Given the description of an element on the screen output the (x, y) to click on. 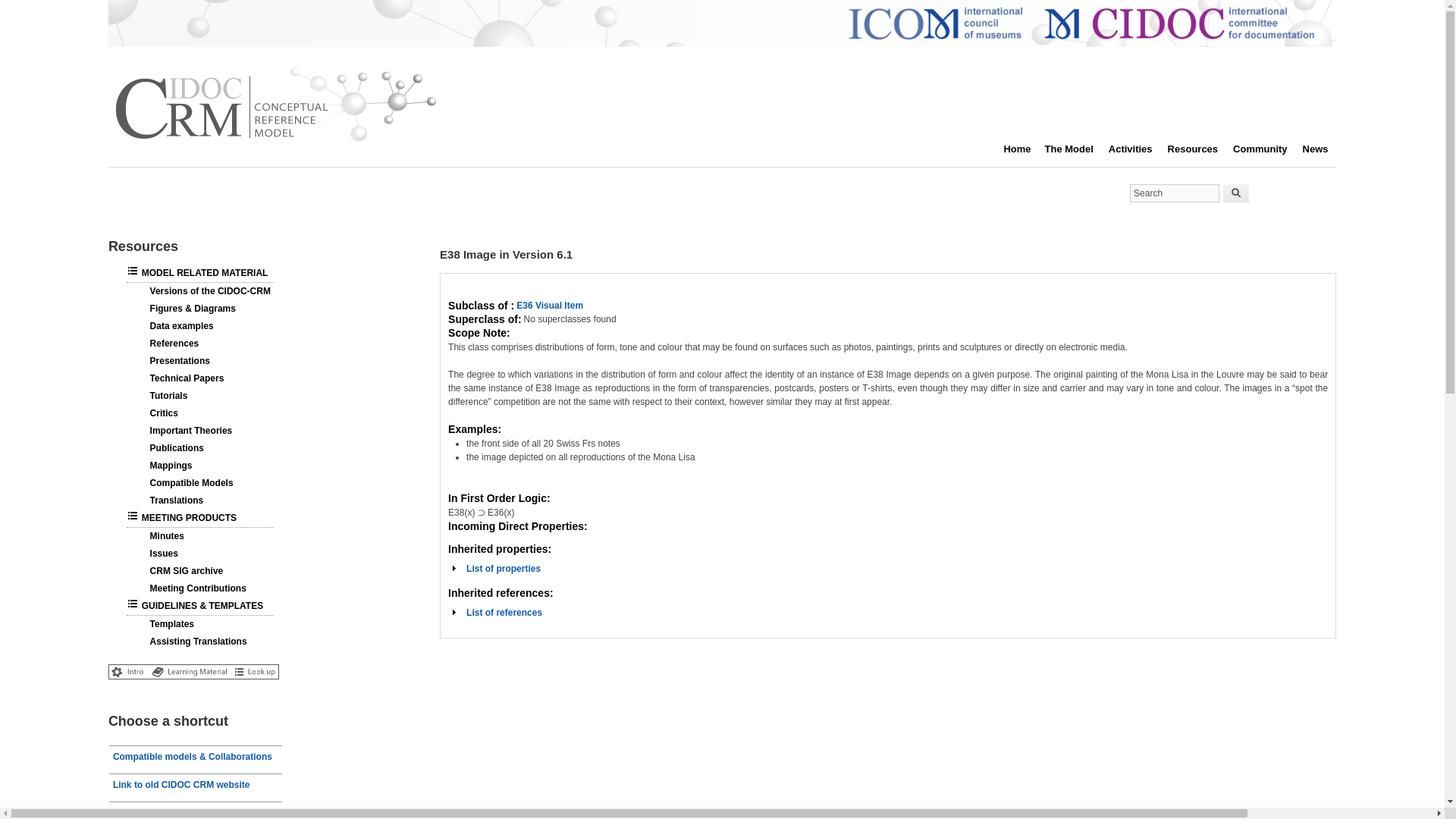
News (1323, 149)
Search (1174, 193)
E36 Visual Item (549, 305)
Search (1236, 193)
Activities (1137, 149)
Search (1236, 193)
Community (1268, 149)
Home (274, 141)
Resources (502, 568)
Enter the terms you wish to search for. (1200, 149)
Home (1174, 193)
